Given the description of an element on the screen output the (x, y) to click on. 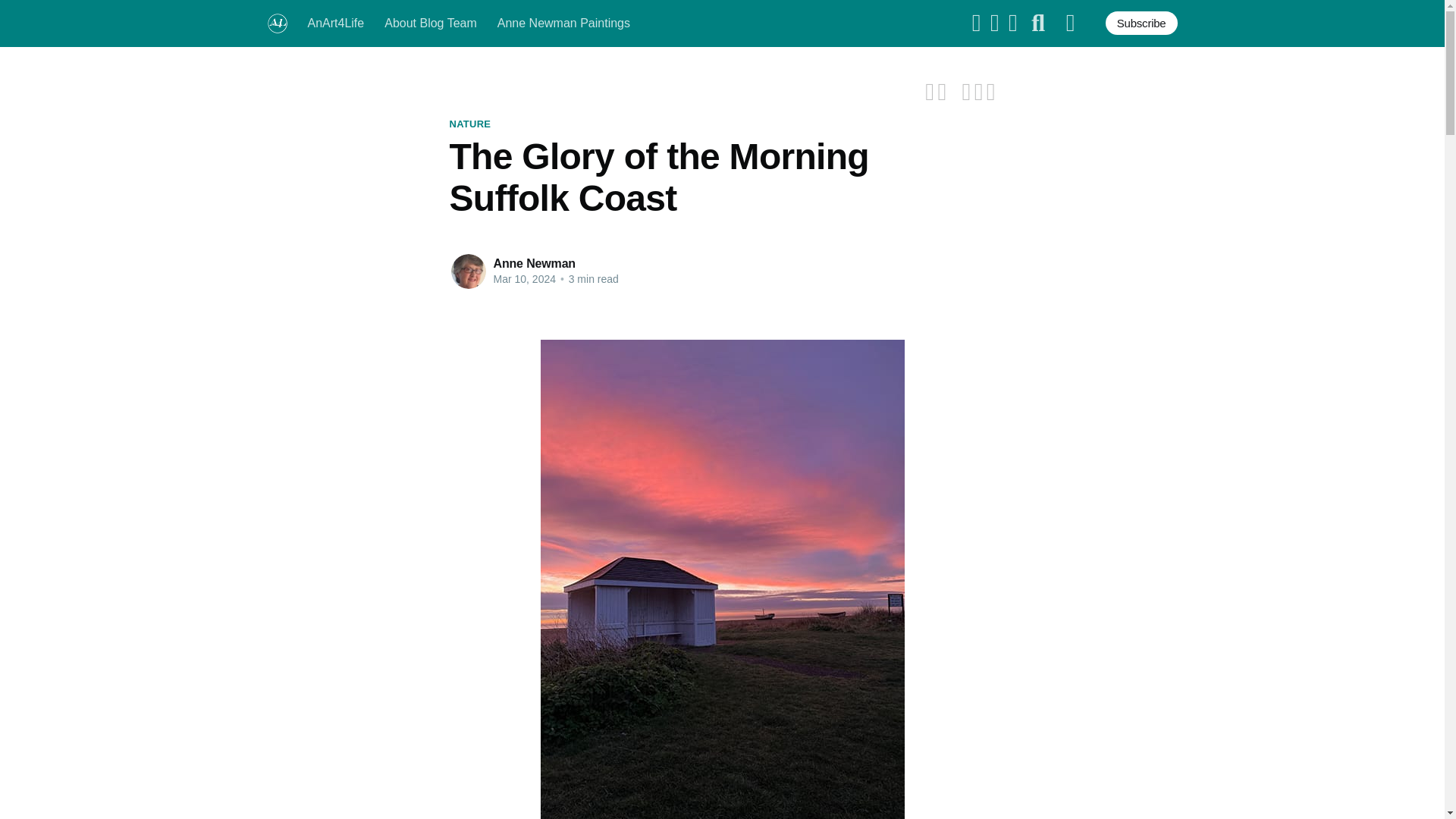
NATURE (469, 124)
Search (1037, 23)
About Blog Team (430, 22)
AnArt4Life (336, 22)
Sitemap (1070, 23)
Anne Newman Paintings (563, 22)
Anne Newman (534, 263)
Subscribe (1141, 23)
